Given the description of an element on the screen output the (x, y) to click on. 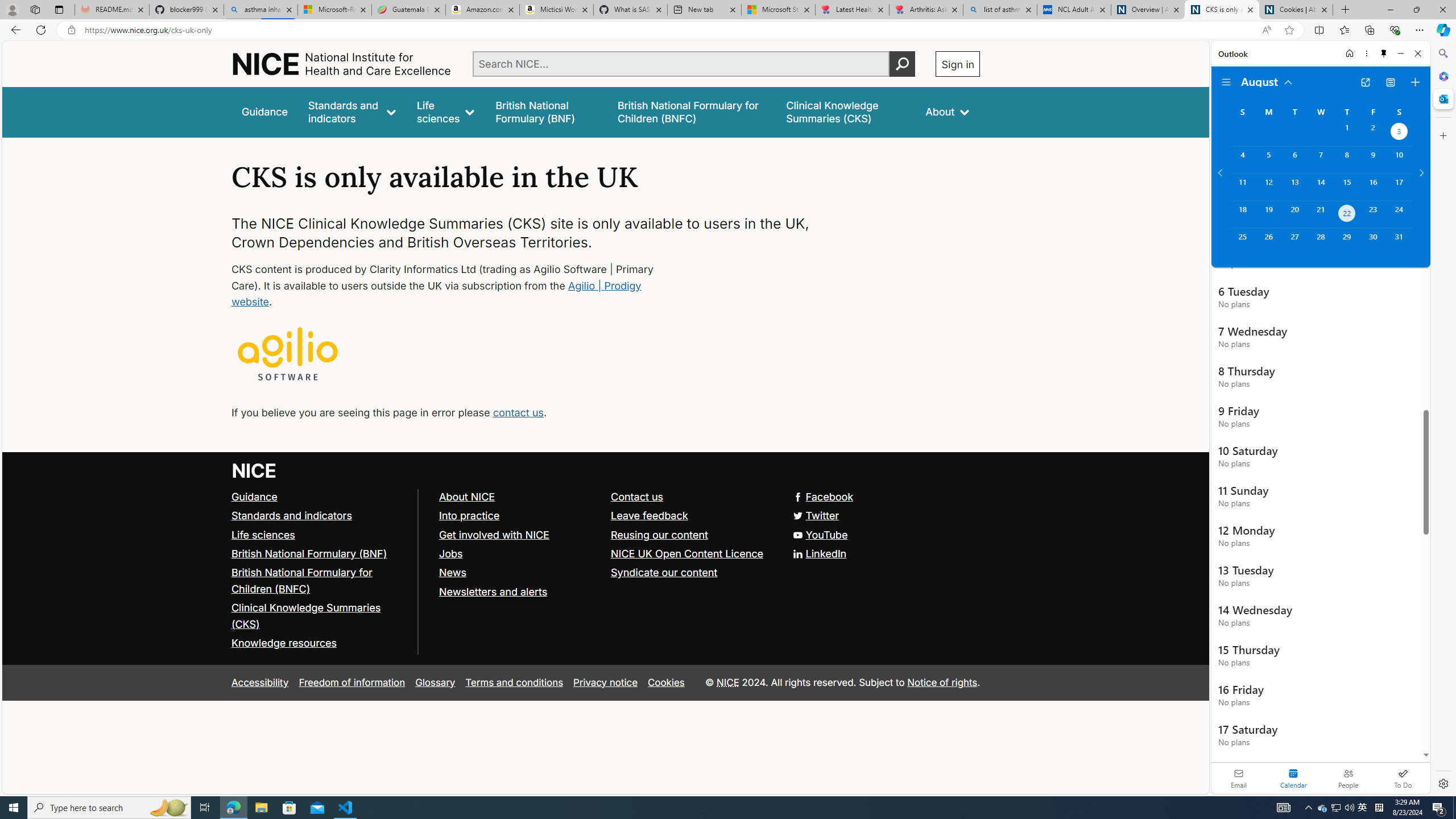
YouTube (605, 534)
Syndicate our content (664, 571)
Contact us (637, 496)
Logo for Clarity Consulting (288, 355)
Thursday, August 8, 2024.  (1346, 159)
YouTube (820, 534)
Facebook (605, 496)
